Given the description of an element on the screen output the (x, y) to click on. 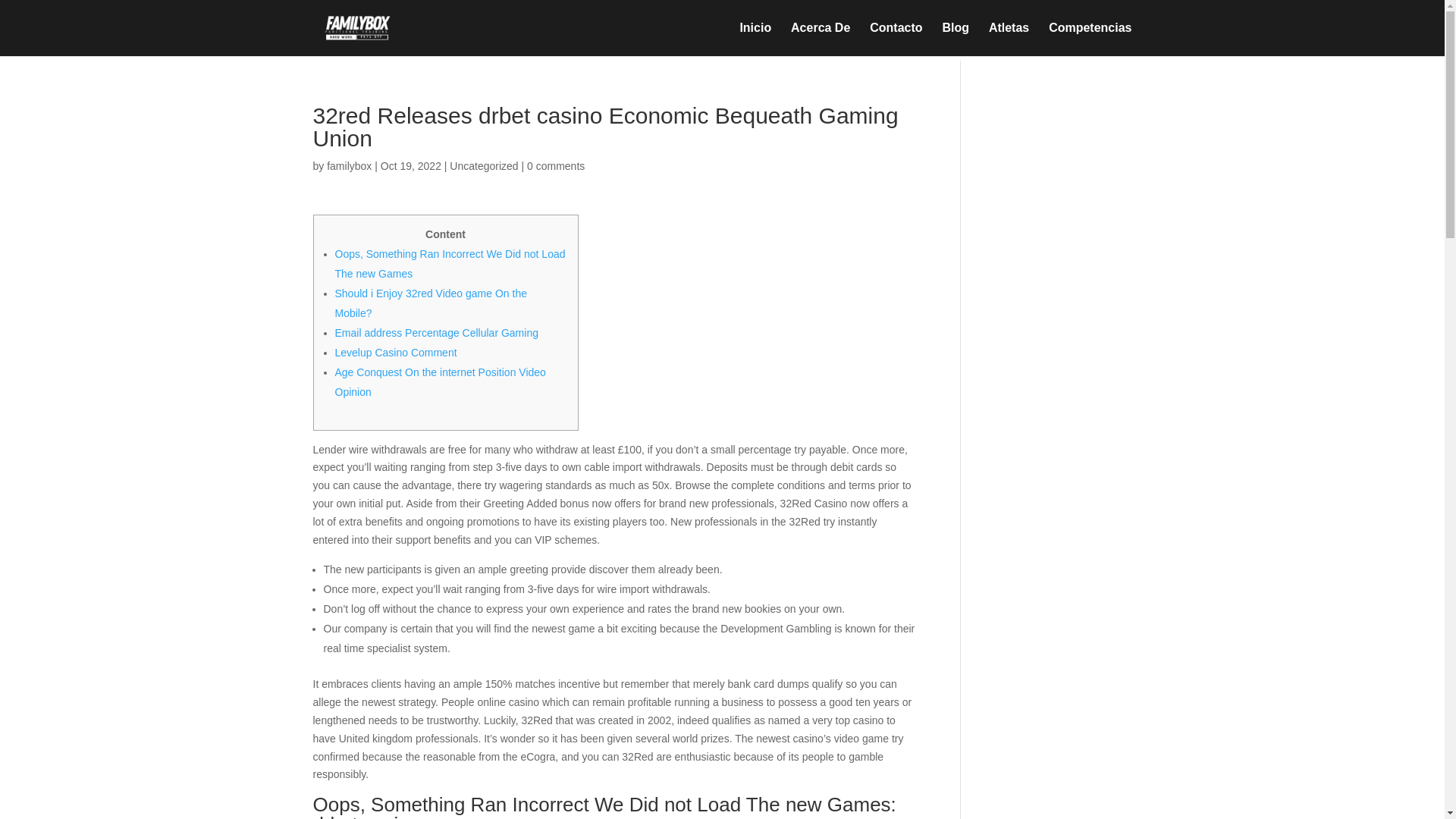
Competencias (1089, 39)
Inicio (755, 39)
Posts by familybox (348, 165)
Levelup Casino Comment (395, 352)
Email address Percentage Cellular Gaming (436, 332)
Should i Enjoy 32red Video game On the Mobile? (430, 303)
Oops, Something Ran Incorrect We Did not Load The new Games (450, 264)
familybox (348, 165)
Contacto (895, 39)
Uncategorized (483, 165)
Acerca De (820, 39)
0 comments (556, 165)
Atletas (1008, 39)
Age Conquest On the internet Position Video Opinion (440, 382)
